Given the description of an element on the screen output the (x, y) to click on. 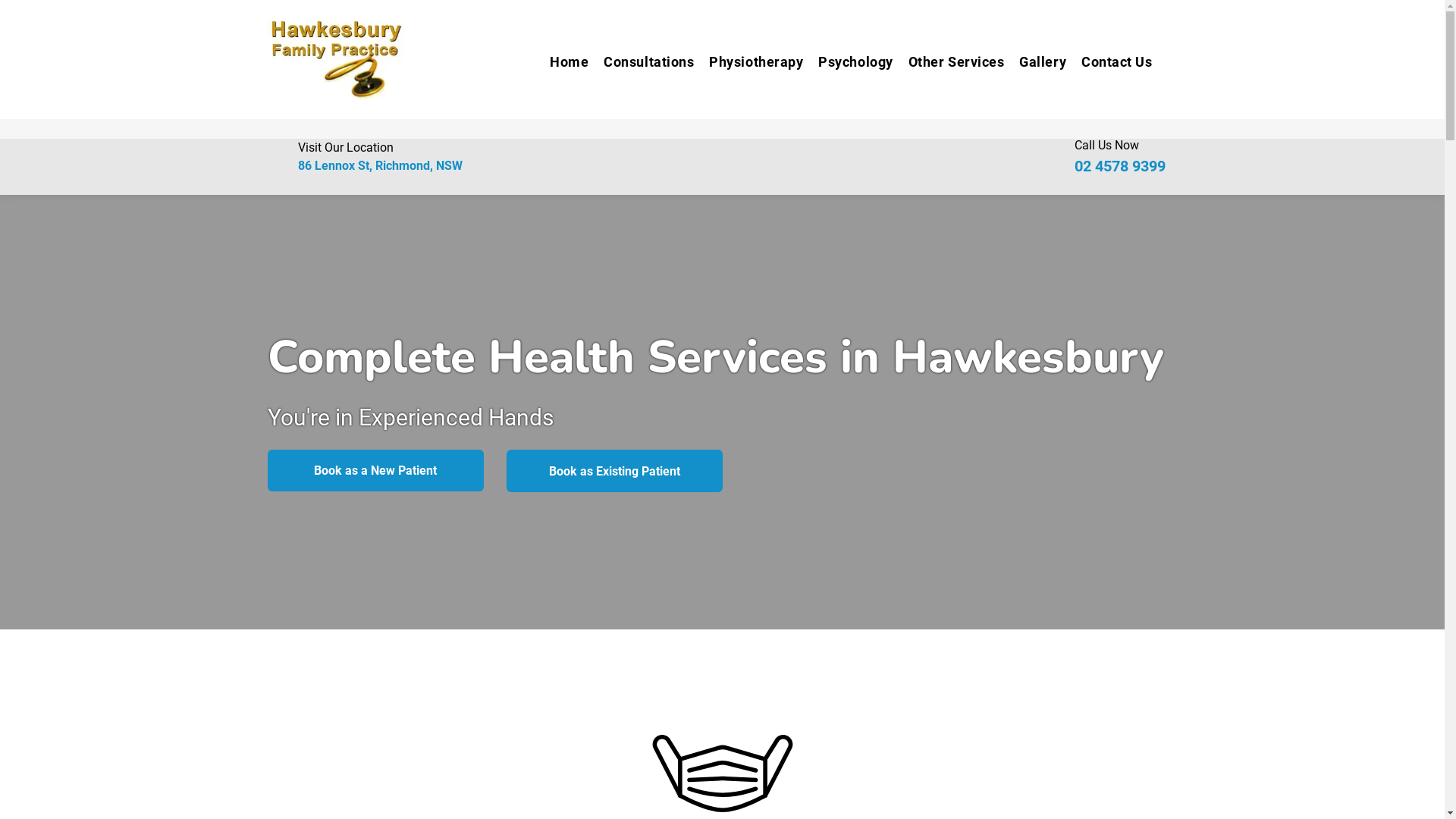
Consultations Element type: text (640, 61)
The Hawkesbury Family Practice Element type: hover (335, 59)
86 Lennox St, Richmond, NSW Element type: text (379, 165)
Other Services Element type: text (948, 61)
Psychology Element type: text (847, 61)
Home Element type: text (561, 61)
02 4578 9399 Element type: text (1119, 165)
Book as a New Patient Element type: text (374, 470)
Gallery Element type: text (1035, 61)
Contact Us Element type: text (1108, 61)
Physiotherapy Element type: text (748, 61)
Book as Existing Patient Element type: text (614, 470)
